Given the description of an element on the screen output the (x, y) to click on. 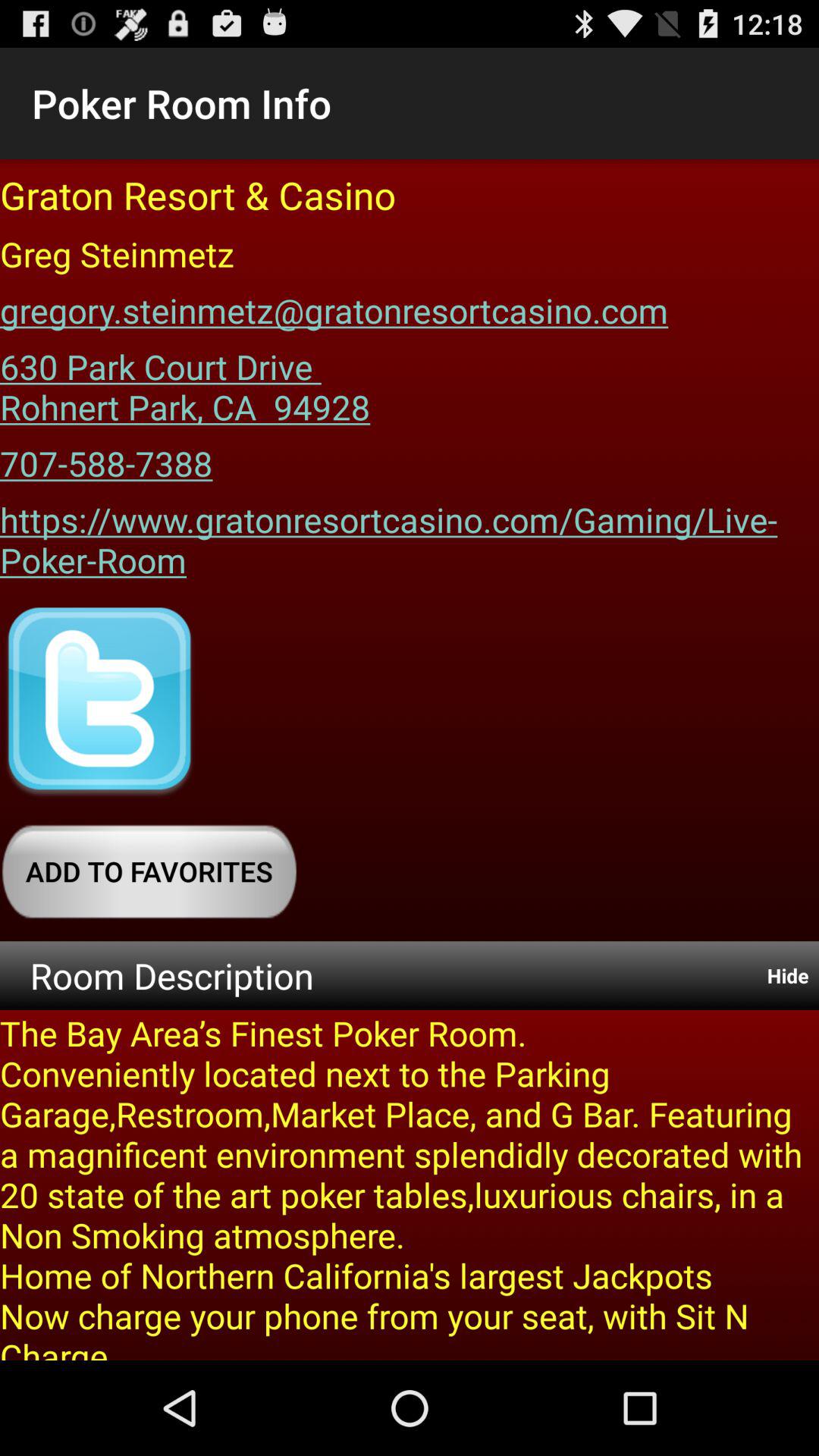
launch https www gratonresortcasino (409, 534)
